Given the description of an element on the screen output the (x, y) to click on. 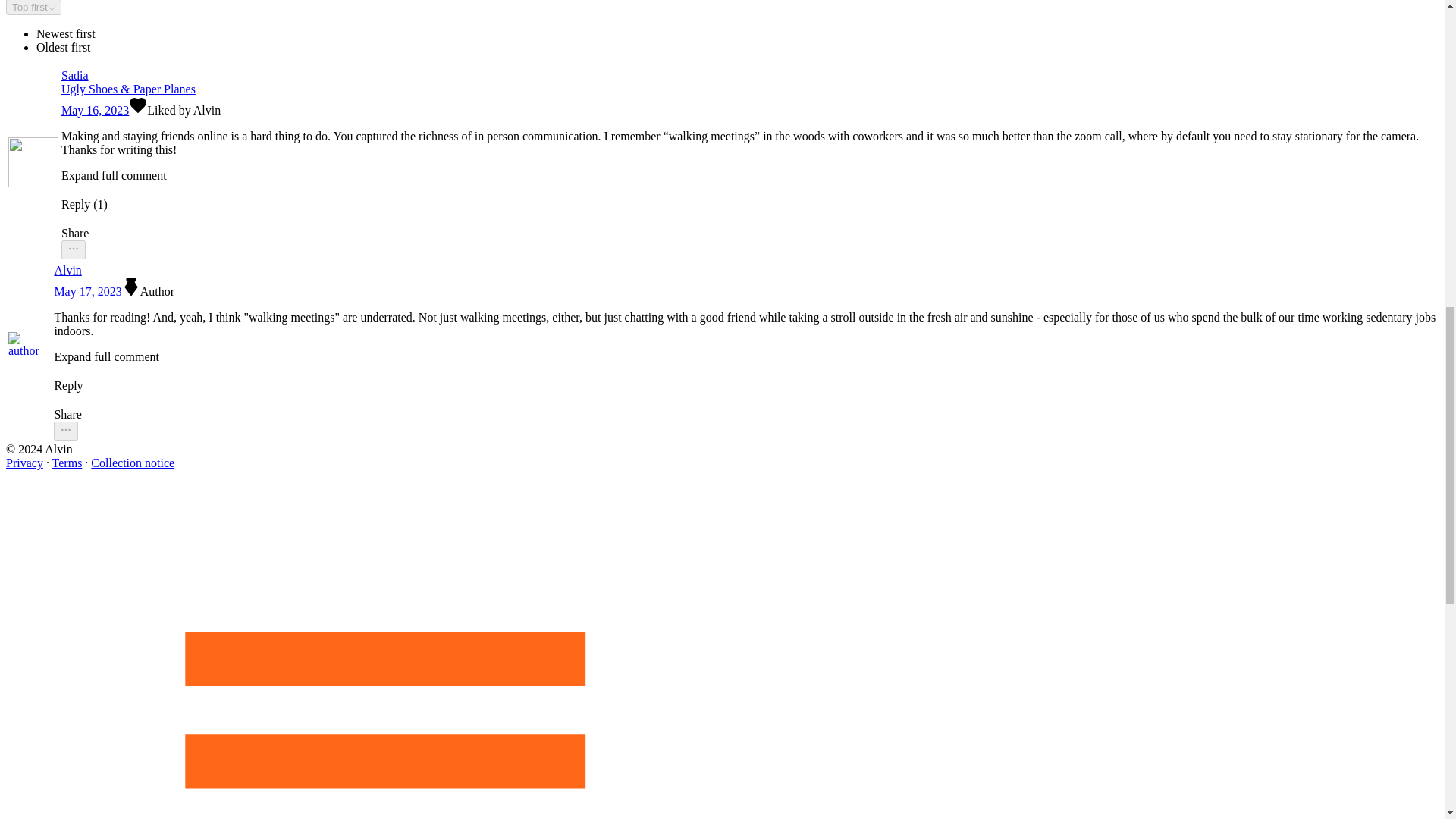
Oldest first (63, 47)
May 17, 2023 (86, 291)
Newest first (66, 33)
Top first (33, 7)
Privacy (24, 462)
May 16, 2023 (95, 110)
